Given the description of an element on the screen output the (x, y) to click on. 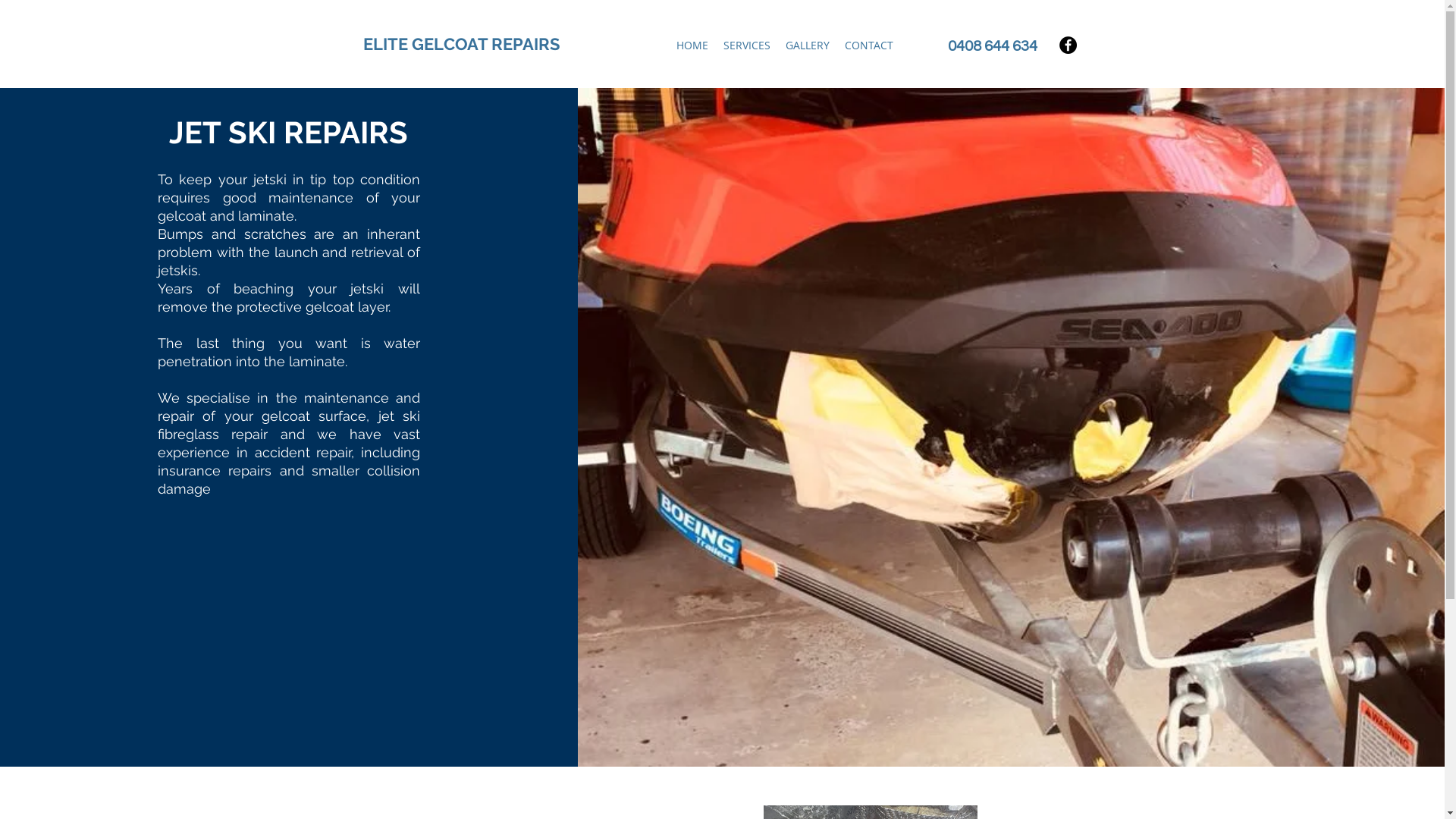
HOME Element type: text (691, 44)
ELITE GELCOAT REPAIRS Element type: text (460, 43)
CONTACT Element type: text (868, 44)
0408 644 634 Element type: text (992, 45)
GALLERY Element type: text (807, 44)
